Given the description of an element on the screen output the (x, y) to click on. 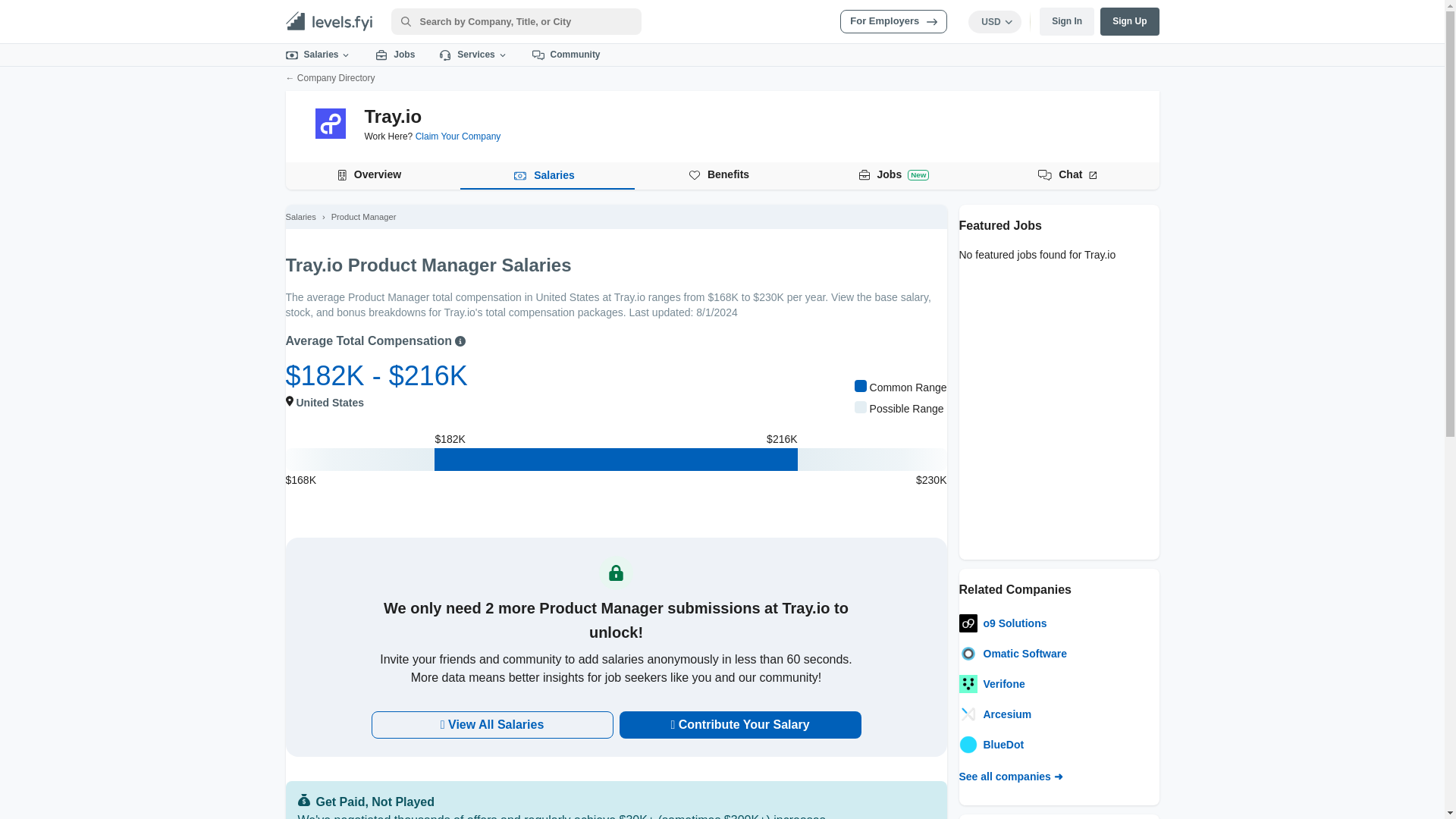
For Employers (893, 21)
Sign In (721, 175)
Salaries (1066, 21)
Sign Up (317, 55)
USD (1129, 21)
